Given the description of an element on the screen output the (x, y) to click on. 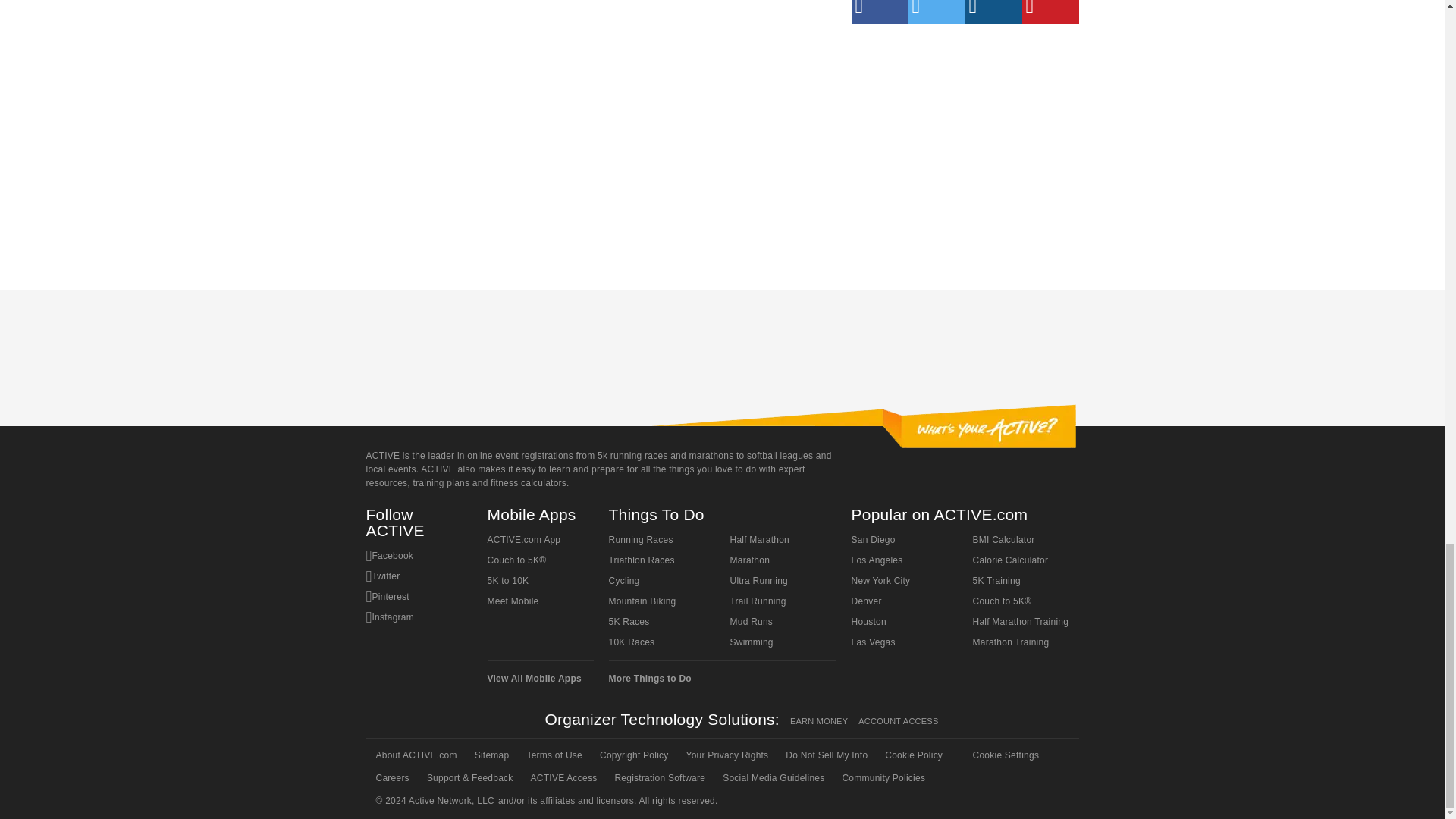
Terms of Use (552, 754)
Copyright Policy (633, 754)
Do Not Sell My Info (825, 754)
Your Privacy Rights: Updated (726, 754)
Careers at Active (390, 777)
Cookie Policy (912, 754)
